Given the description of an element on the screen output the (x, y) to click on. 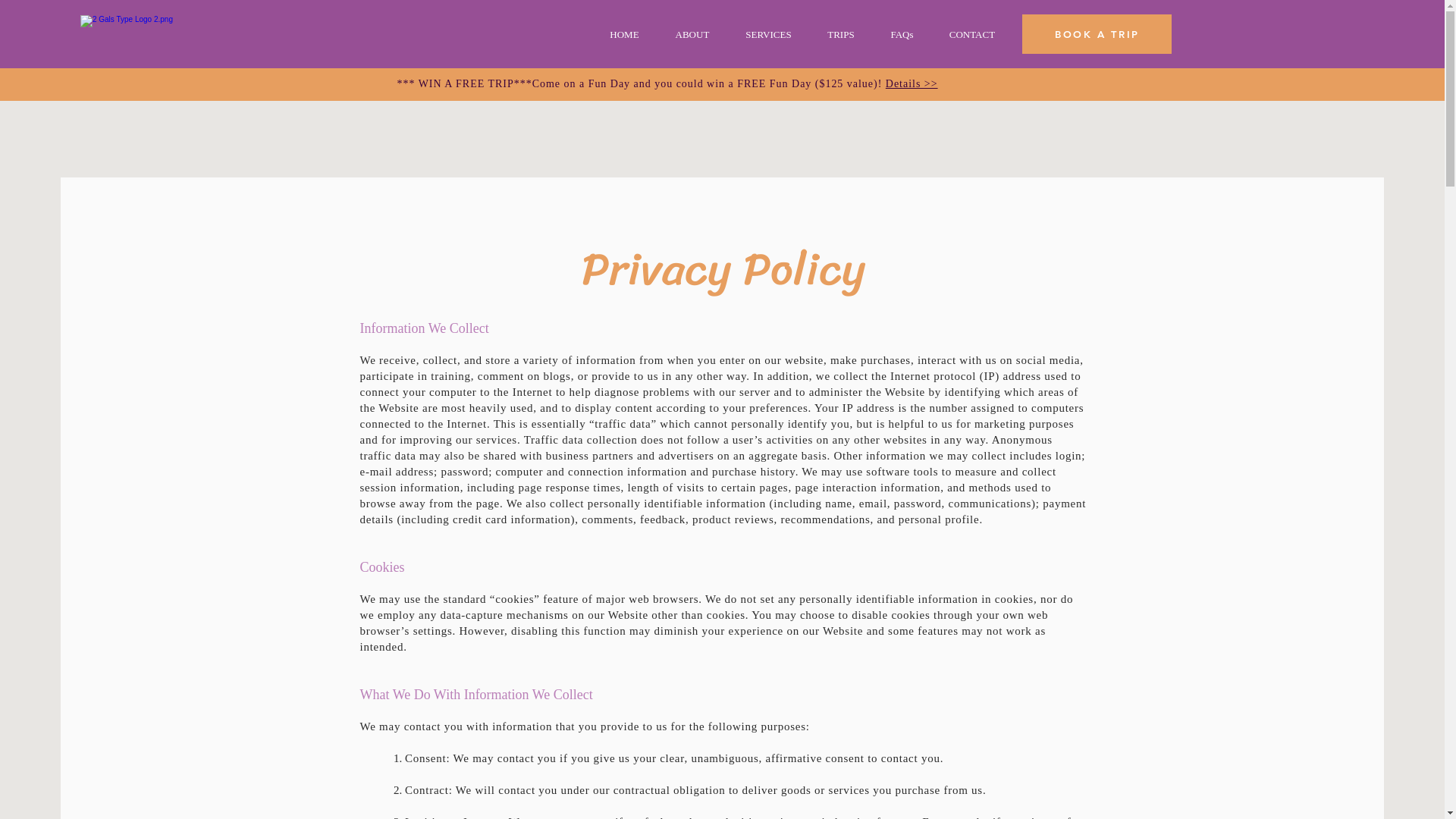
SERVICES Element type: text (768, 34)
ABOUT Element type: text (691, 34)
TRIPS Element type: text (840, 34)
BOOK A TRIP Element type: text (1096, 33)
FAQs Element type: text (901, 34)
CONTACT Element type: text (971, 34)
HOME Element type: text (623, 34)
Details >> Element type: text (911, 83)
